Given the description of an element on the screen output the (x, y) to click on. 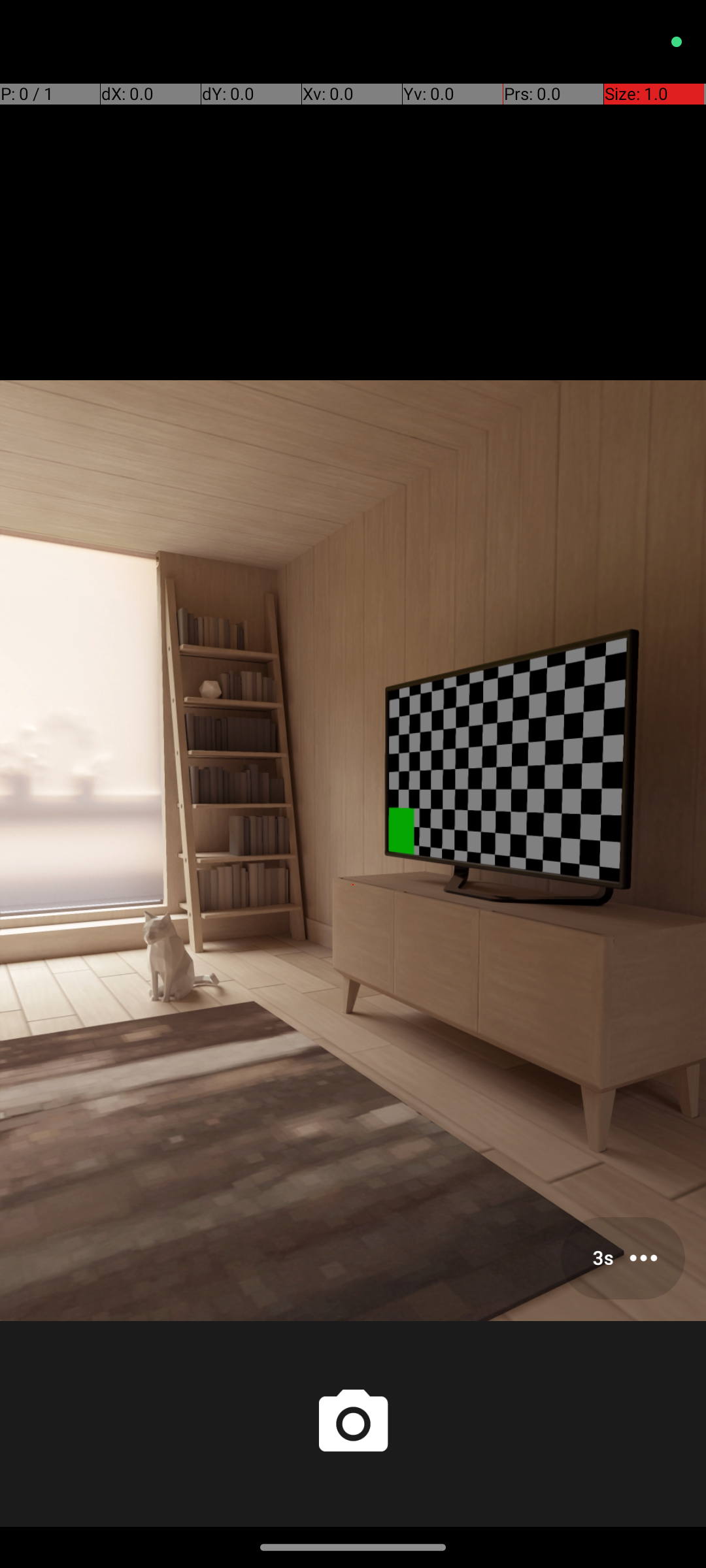
Options Element type: android.widget.LinearLayout (622, 1258)
